Given the description of an element on the screen output the (x, y) to click on. 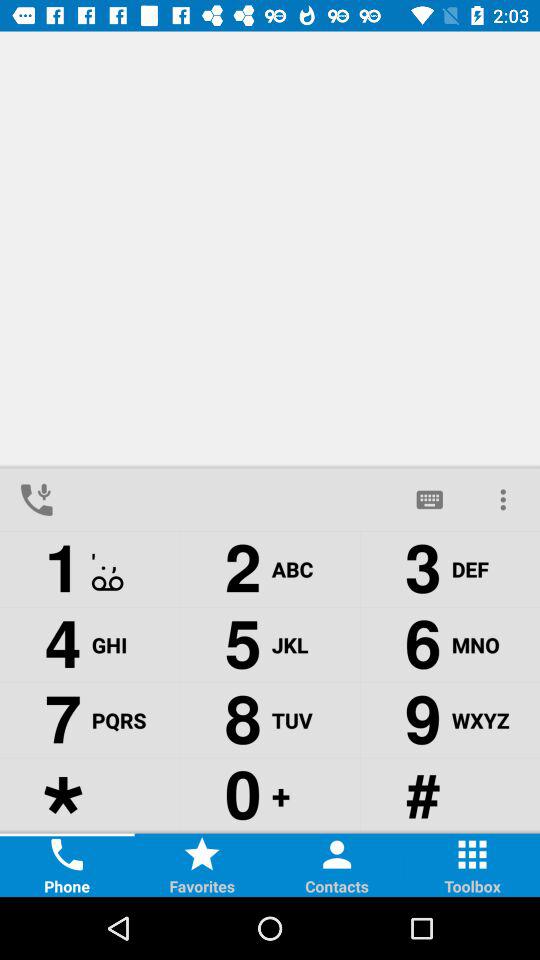
enter phone number (233, 499)
